Given the description of an element on the screen output the (x, y) to click on. 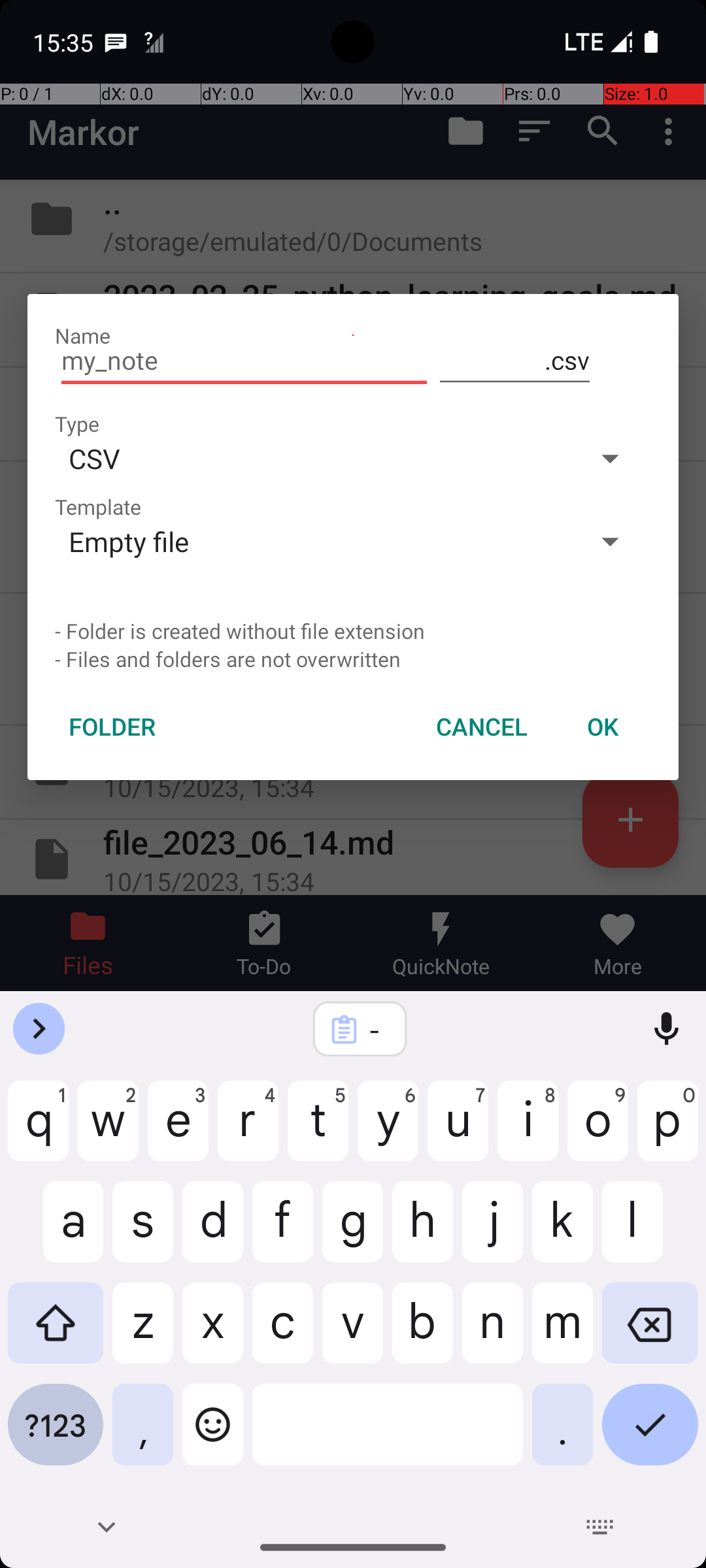
.csv Element type: android.widget.EditText (514, 360)
-  Element type: android.widget.TextView (376, 1029)
